Given the description of an element on the screen output the (x, y) to click on. 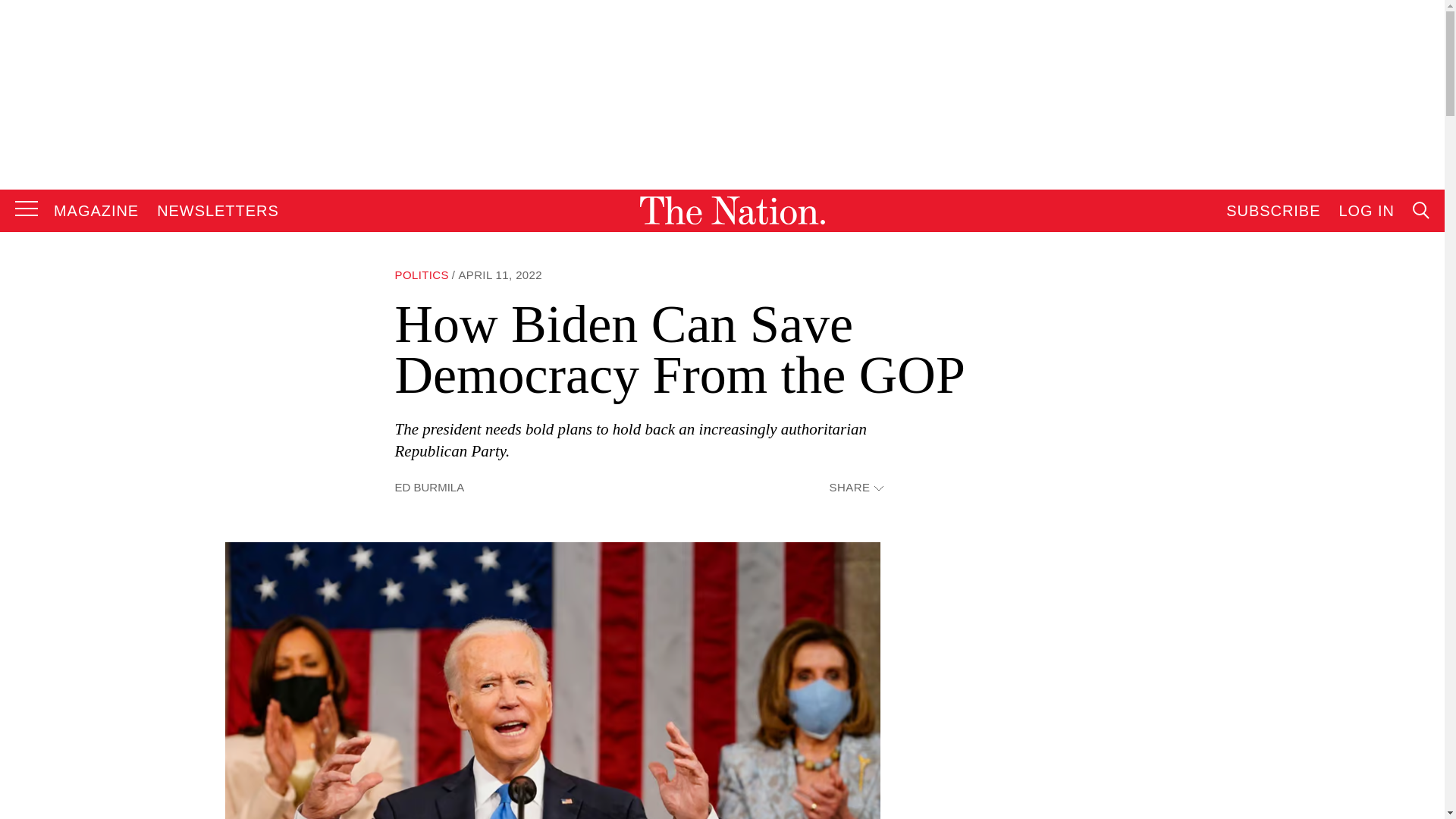
SUBSCRIBE (1272, 210)
MAGAZINE (95, 210)
Search (1278, 364)
POLITICS (421, 274)
NEWSLETTERS (218, 210)
SHARE (855, 487)
ED BURMILA (429, 486)
LOG IN (1366, 210)
